Given the description of an element on the screen output the (x, y) to click on. 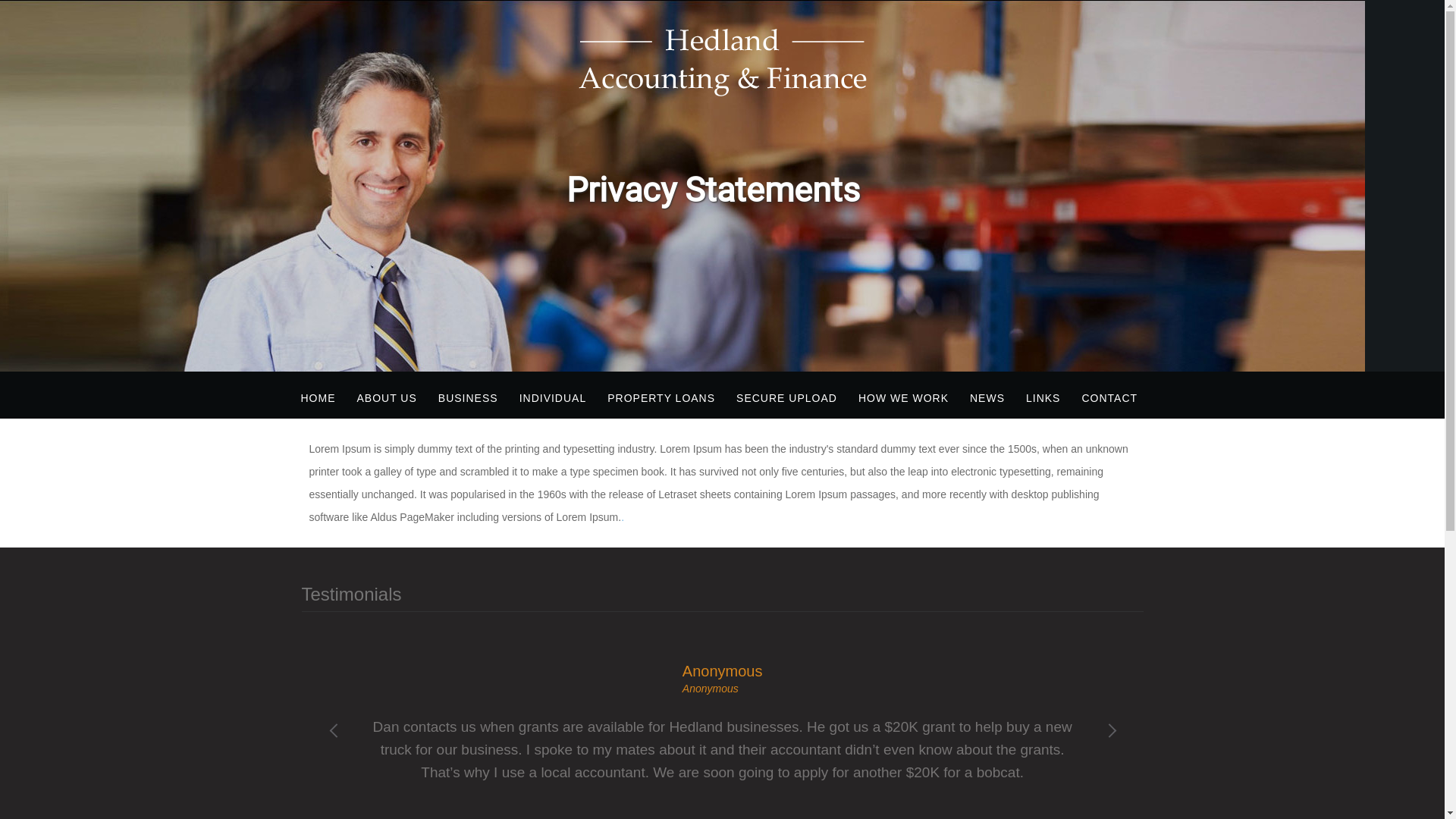
CONTACT Element type: text (1109, 397)
LINKS Element type: text (1042, 397)
HOW WE WORK Element type: text (903, 397)
ABOUT US Element type: text (385, 397)
HOME Element type: text (317, 397)
logo Element type: hover (721, 62)
INDIVIDUAL Element type: text (552, 397)
PROPERTY LOANS Element type: text (660, 397)
BUSINESS Element type: text (467, 397)
NEWS Element type: text (987, 397)
. Element type: text (622, 517)
SECURE UPLOAD Element type: text (786, 397)
